Given the description of an element on the screen output the (x, y) to click on. 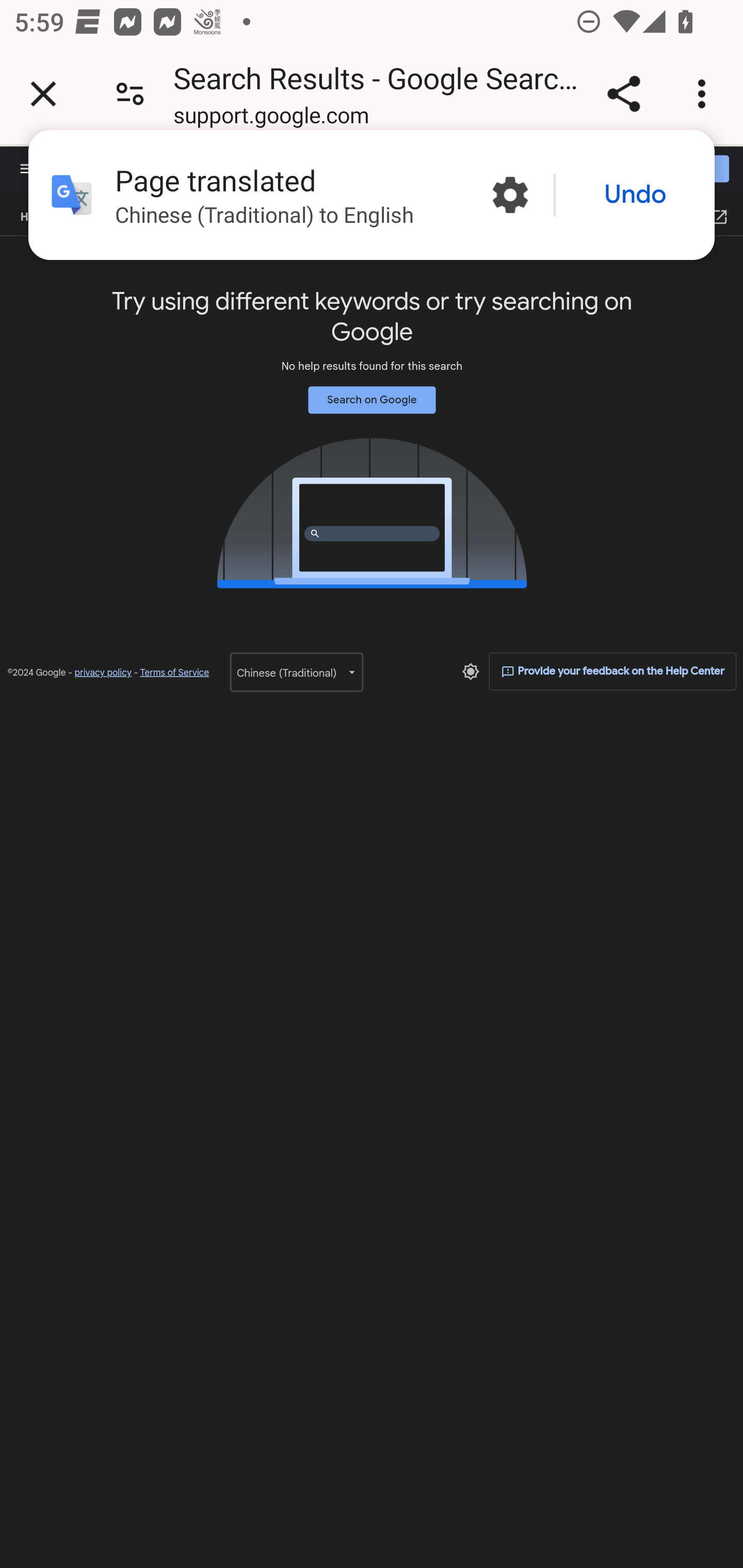
Close tab (43, 93)
Share (623, 93)
Customize and control Google Chrome (705, 93)
Connection is secure (129, 93)
support.google.com (271, 117)
Undo (634, 195)
More options in the Page translated (509, 195)
Search on Google (371, 399)
Select language (Chinese (Traditional)‎) (295, 671)
Provide your feedback on the Help Center (612, 670)
Disable dark mode (470, 670)
privacy policy (103, 672)
Terms of Service (174, 672)
